Given the description of an element on the screen output the (x, y) to click on. 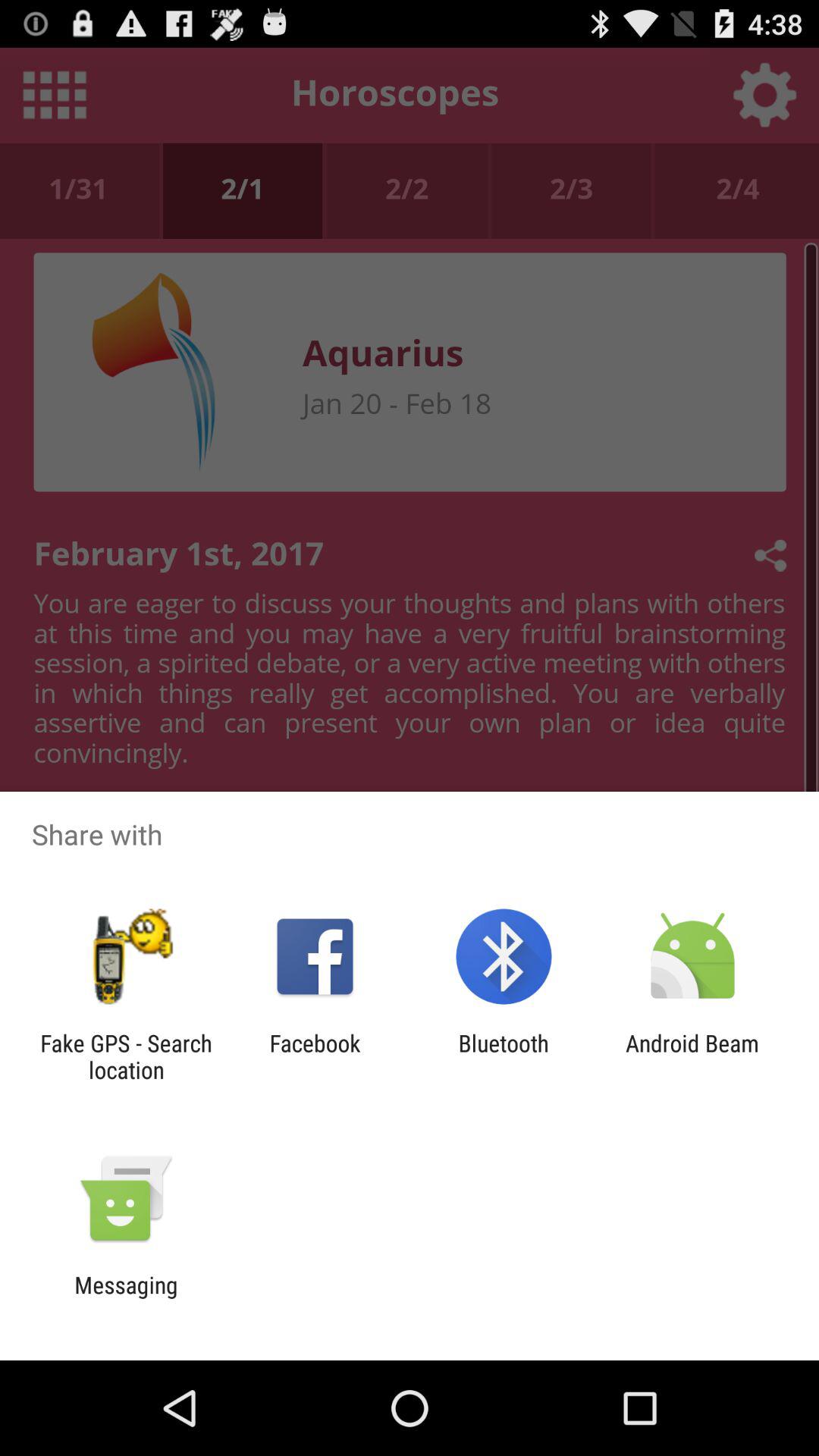
jump to bluetooth app (503, 1056)
